Given the description of an element on the screen output the (x, y) to click on. 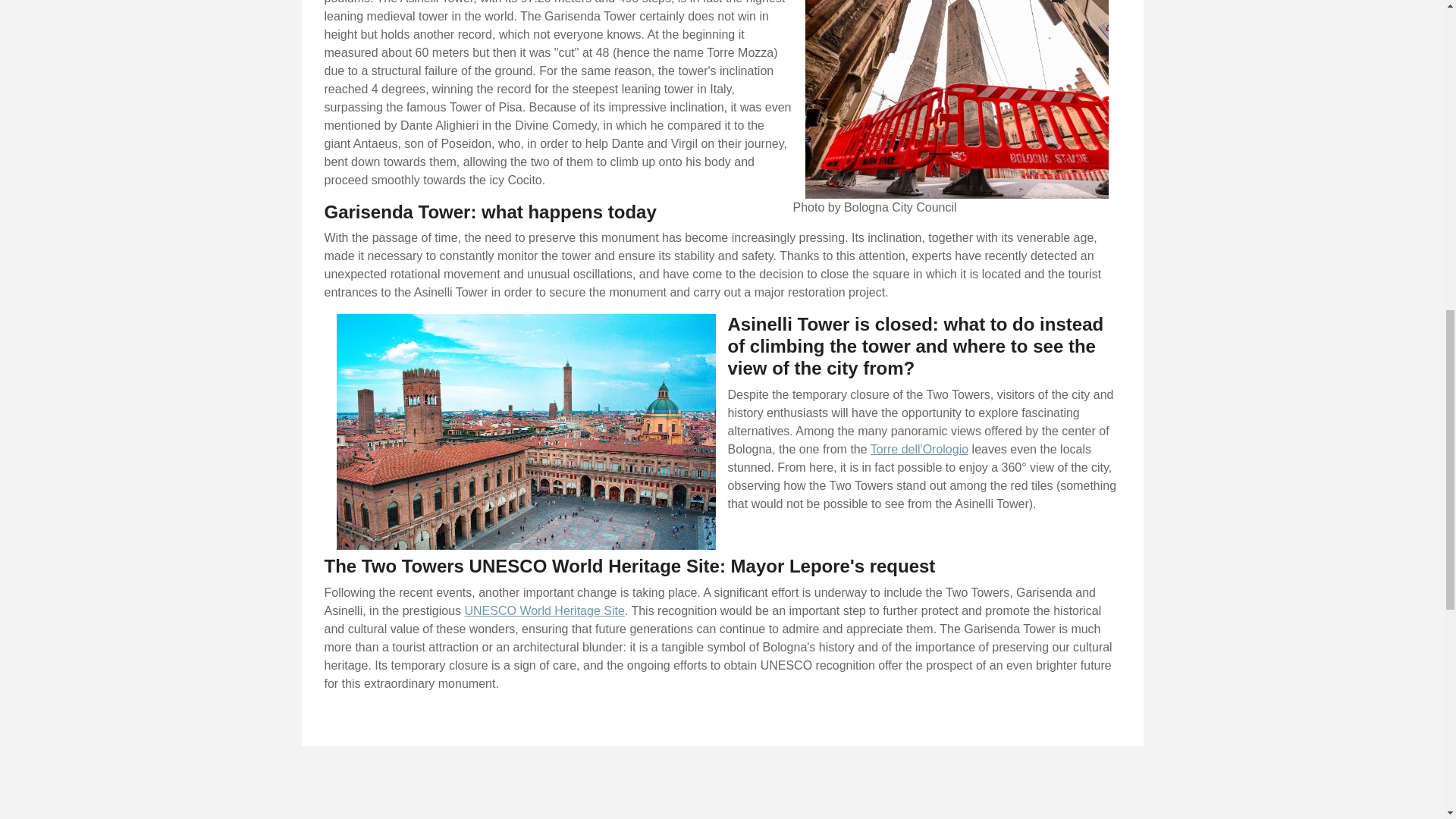
FareHarbor (1342, 64)
UNESCO World Heritage Site (544, 610)
Torre dell'Orologio (919, 449)
